Given the description of an element on the screen output the (x, y) to click on. 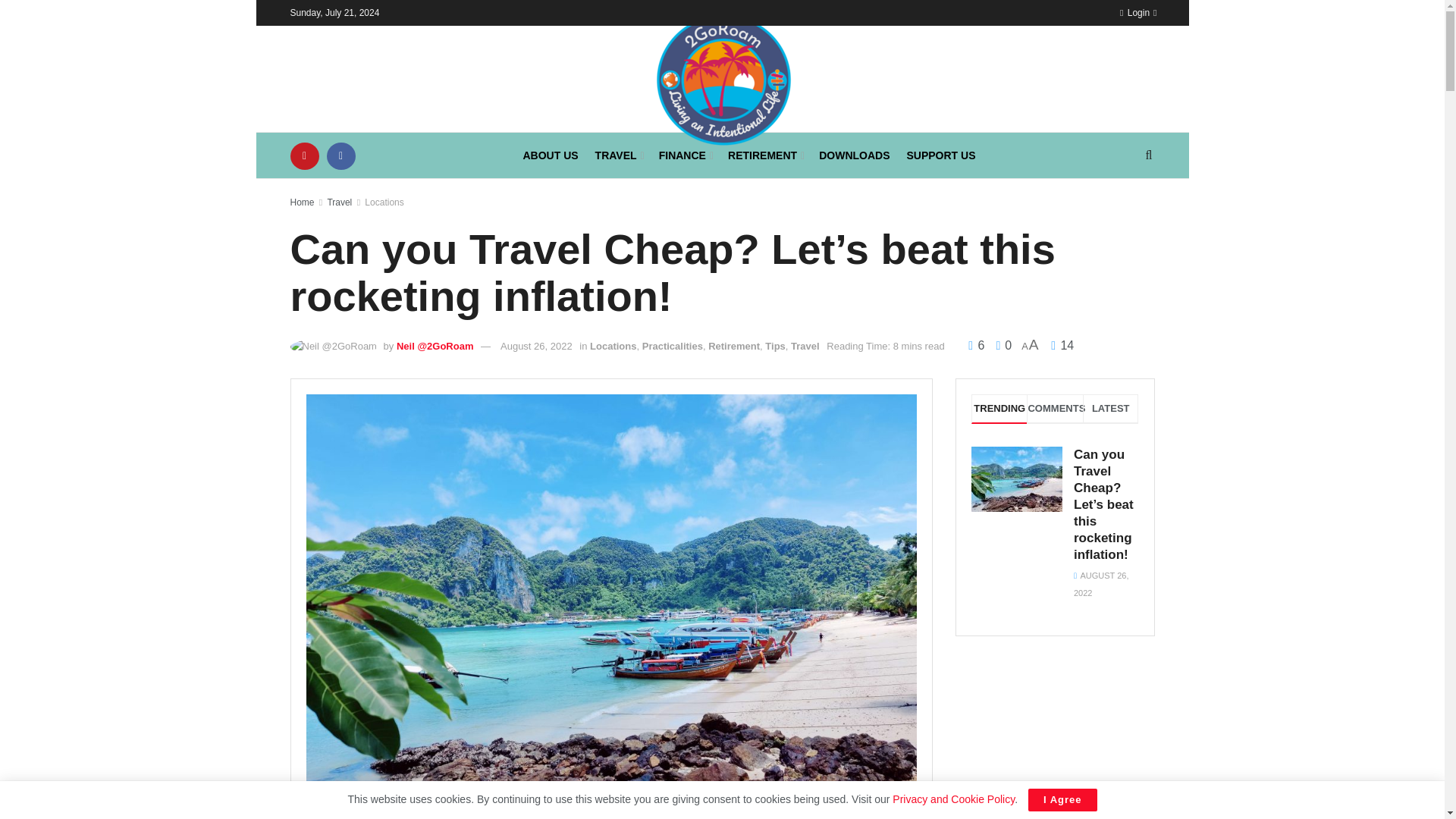
Locations (384, 202)
Travel (339, 202)
RETIREMENT (765, 155)
ABOUT US (550, 155)
FINANCE (685, 155)
Home (301, 202)
Login (1134, 12)
TRAVEL (618, 155)
DOWNLOADS (853, 155)
SUPPORT US (941, 155)
